Given the description of an element on the screen output the (x, y) to click on. 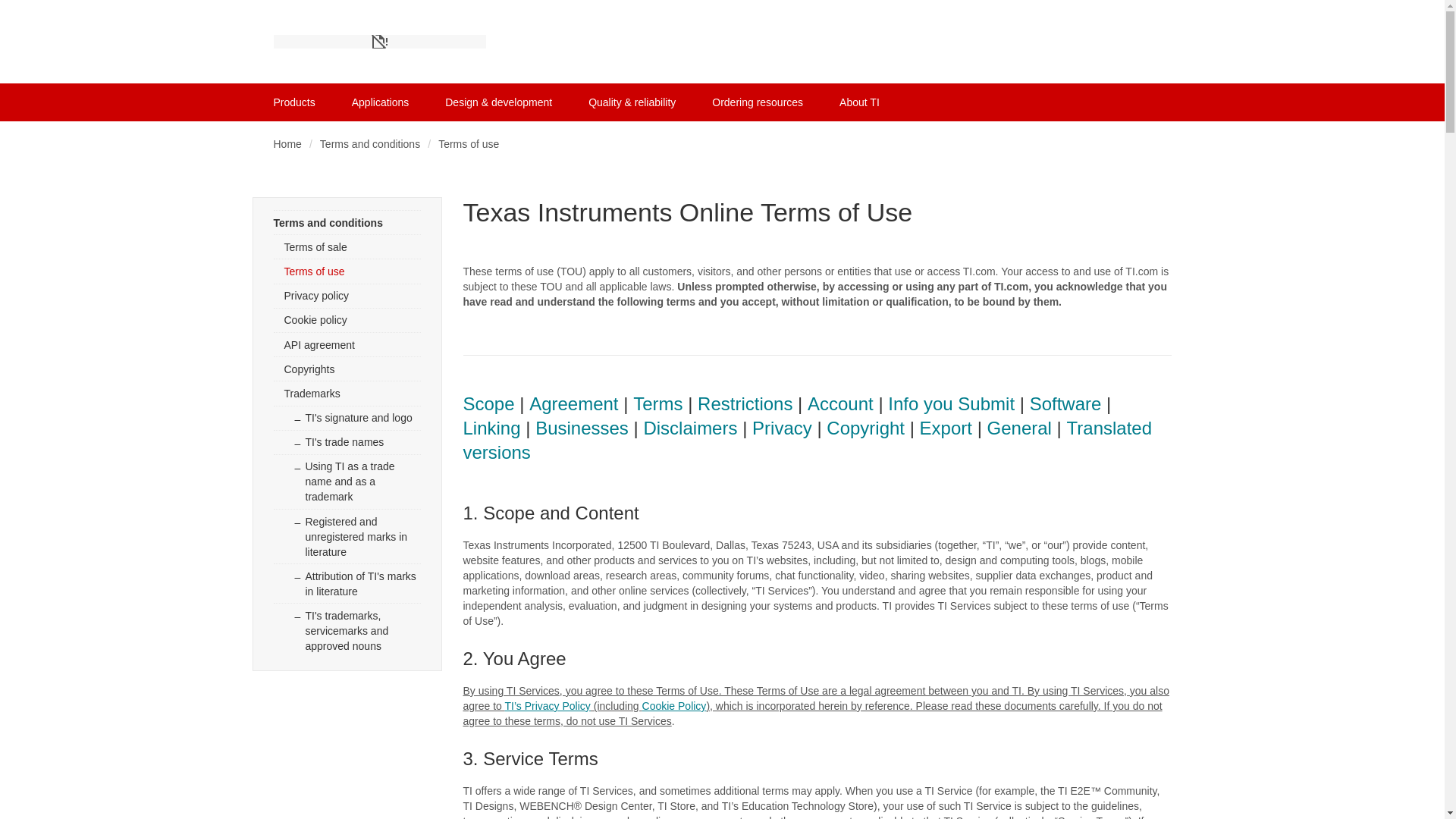
Using TI as a trade name and as a trademark (346, 481)
Products (293, 102)
Terms of use (346, 270)
TI's signature and logo (346, 416)
Ordering resources (757, 102)
TI's trade names (346, 441)
Applications (380, 102)
API agreement (346, 344)
Restrictions (744, 403)
Agreement (573, 403)
Copyrights (346, 368)
Trademarks (346, 392)
Account (840, 403)
Registered and unregistered marks in literature (346, 535)
My cart (1161, 102)
